Given the description of an element on the screen output the (x, y) to click on. 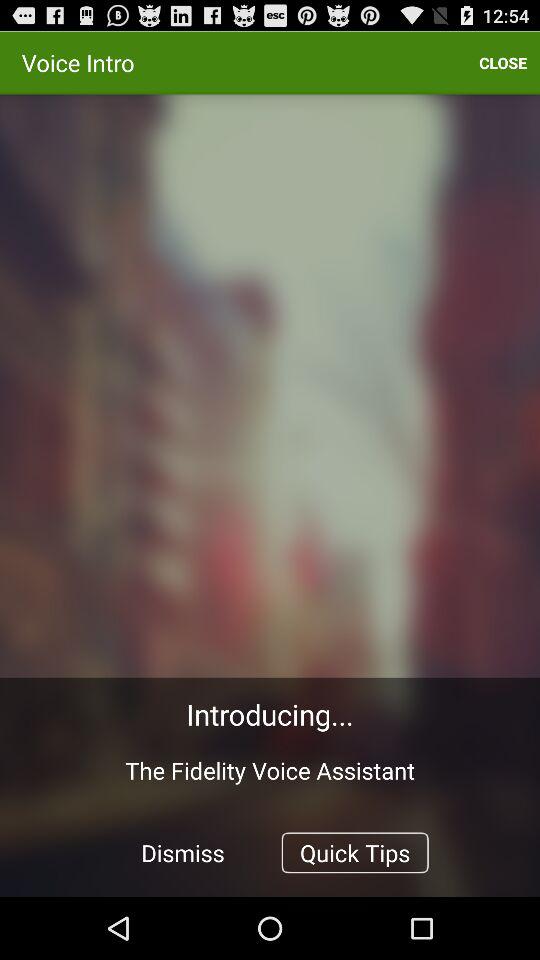
choose item next to quick tips icon (183, 852)
